Given the description of an element on the screen output the (x, y) to click on. 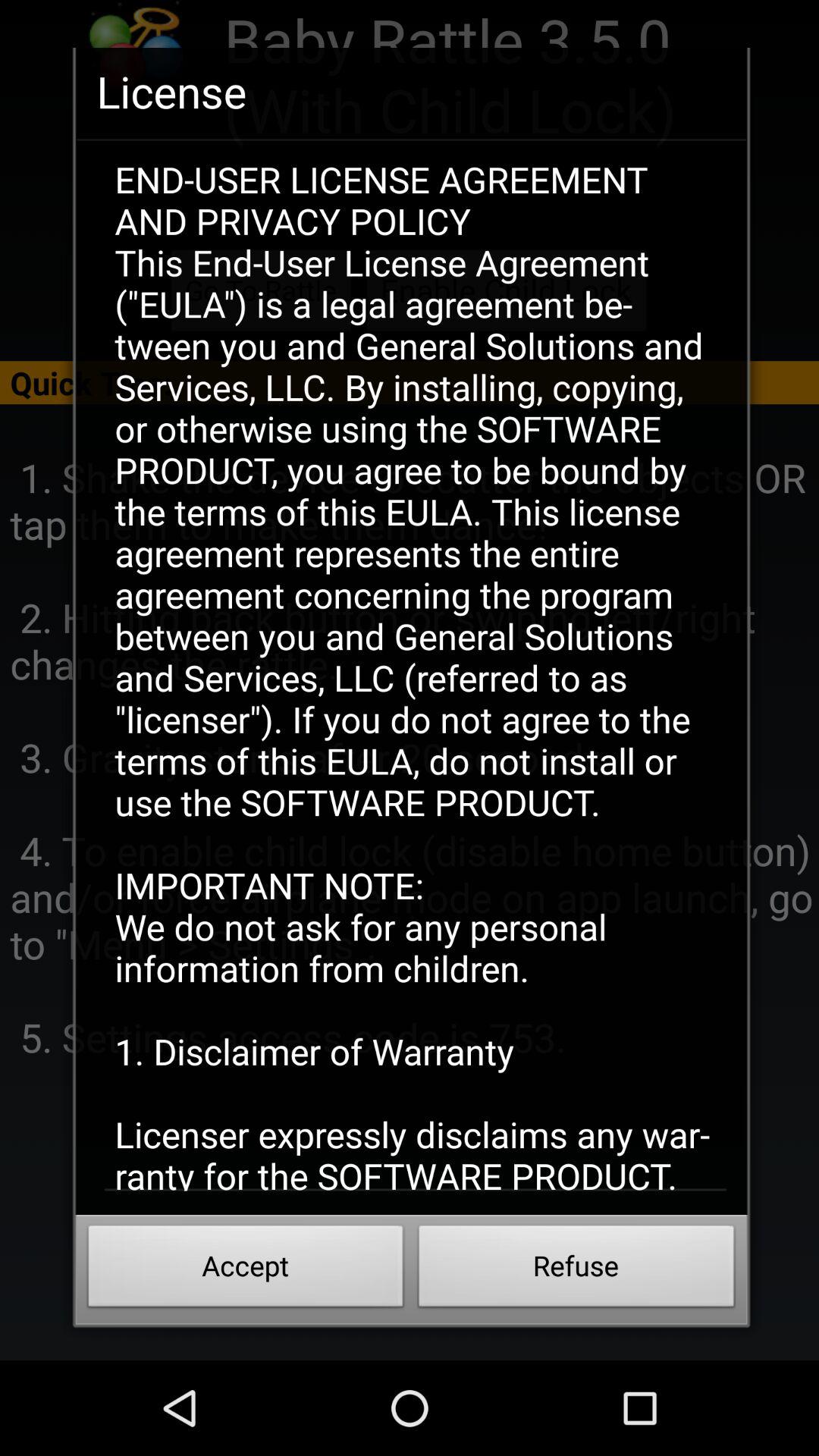
choose item next to the refuse button (245, 1270)
